Given the description of an element on the screen output the (x, y) to click on. 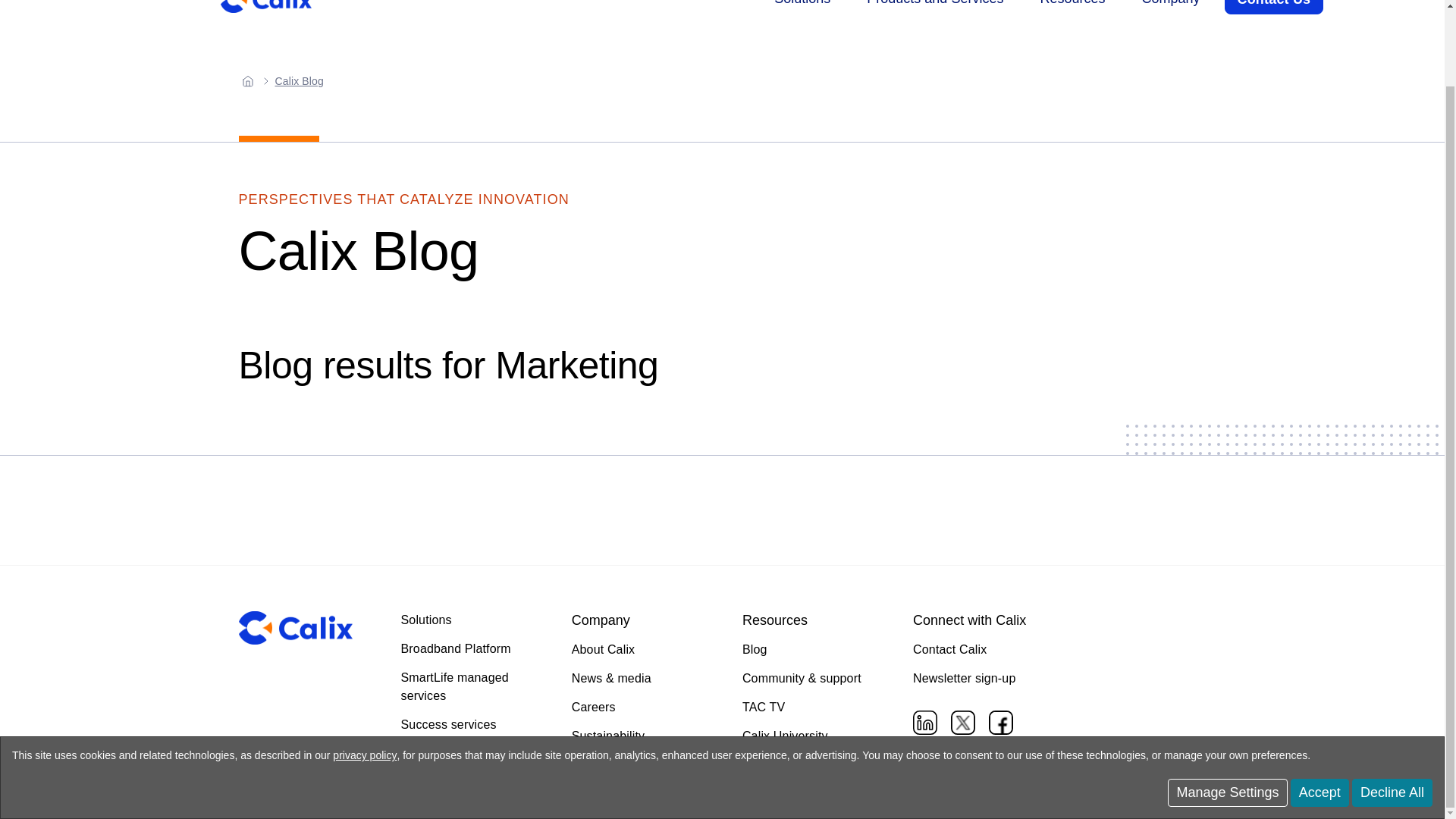
Solutions (801, 7)
Products and Services (934, 7)
calix.png (295, 627)
